Given the description of an element on the screen output the (x, y) to click on. 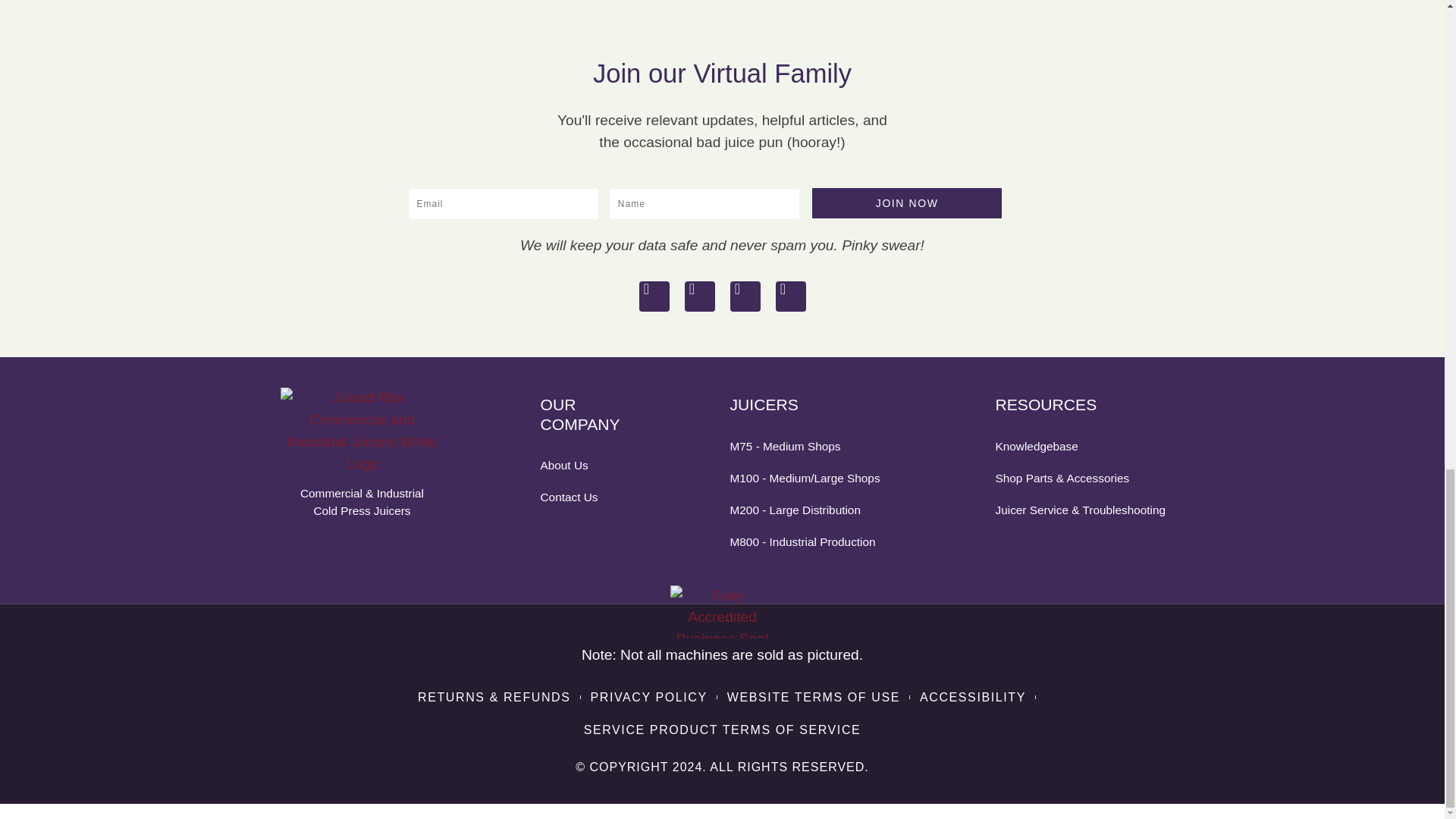
Knowledgebase (1081, 446)
About Us (589, 465)
ACCESSIBILITY (973, 697)
M800 - Industrial Production (816, 541)
WEBSITE TERMS OF USE (812, 697)
Contact Us (589, 497)
Join Now (906, 203)
M75 - Medium Shops (816, 446)
PRIVACY POLICY (647, 697)
M200 - Large Distribution (816, 509)
